Given the description of an element on the screen output the (x, y) to click on. 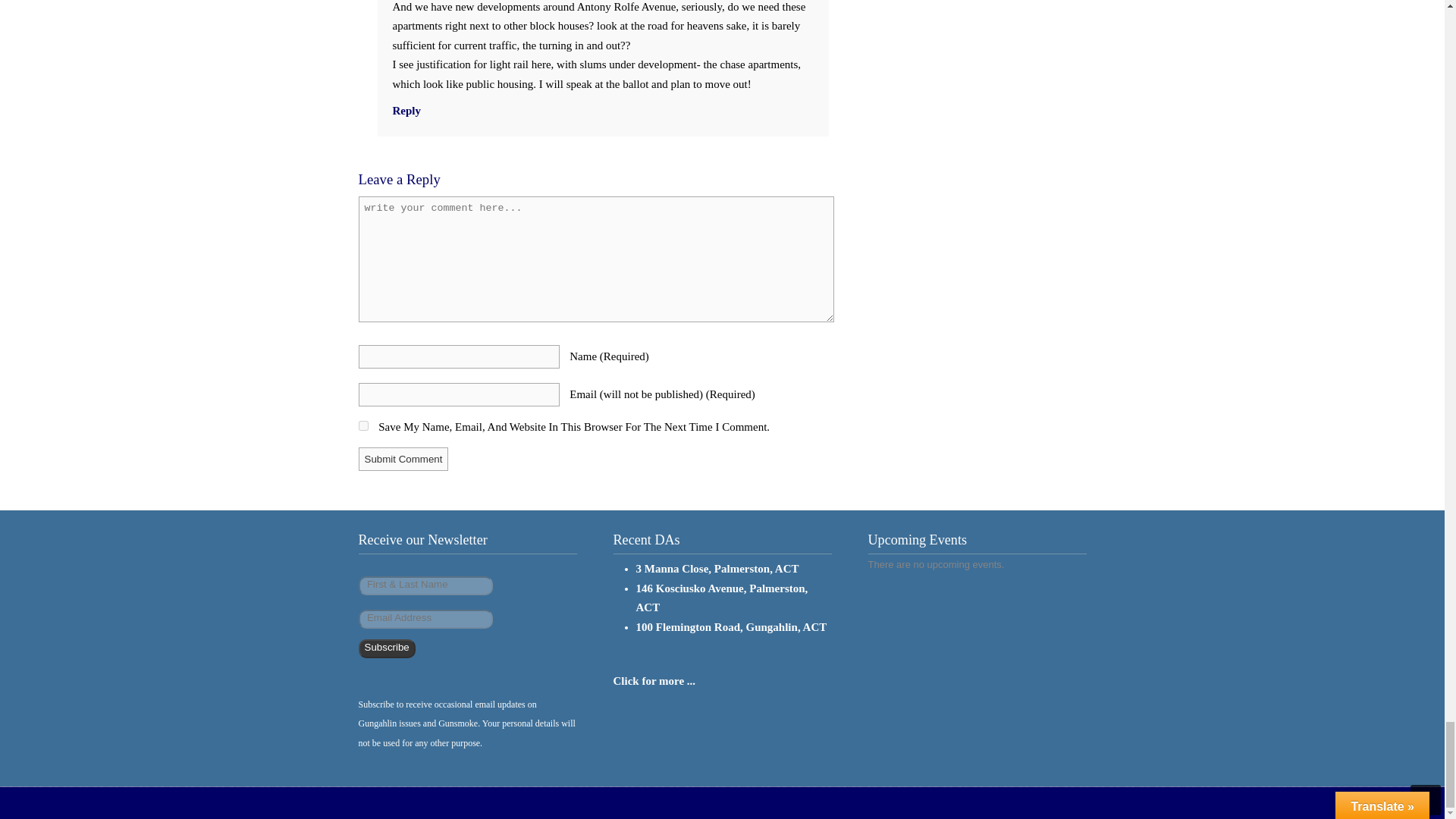
Subscribe (386, 648)
yes (363, 425)
Submit Comment (403, 458)
